Given the description of an element on the screen output the (x, y) to click on. 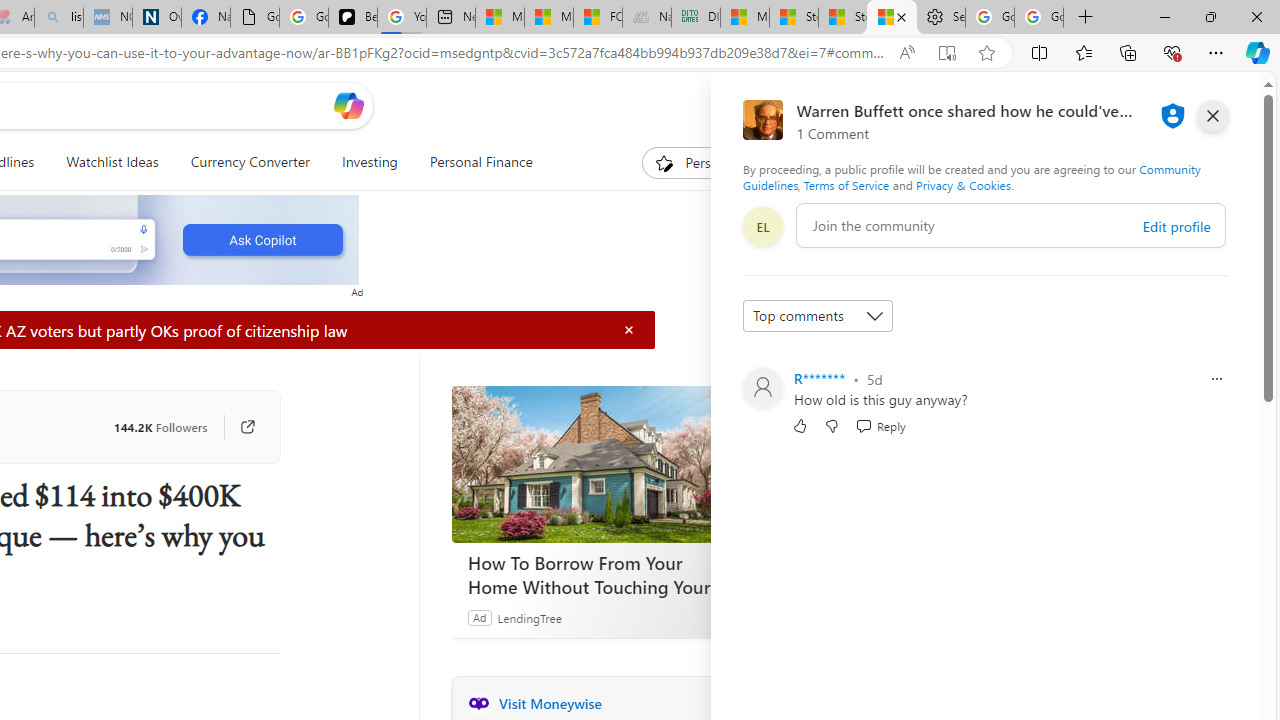
Enter Immersive Reader (F9) (946, 53)
R******* (819, 378)
Profile Picture (762, 387)
Currency Converter (249, 162)
Open settings (1216, 105)
Personalize (703, 162)
How To Borrow From Your Home Without Touching Your Mortgage (601, 463)
Sort comments by (817, 315)
